Given the description of an element on the screen output the (x, y) to click on. 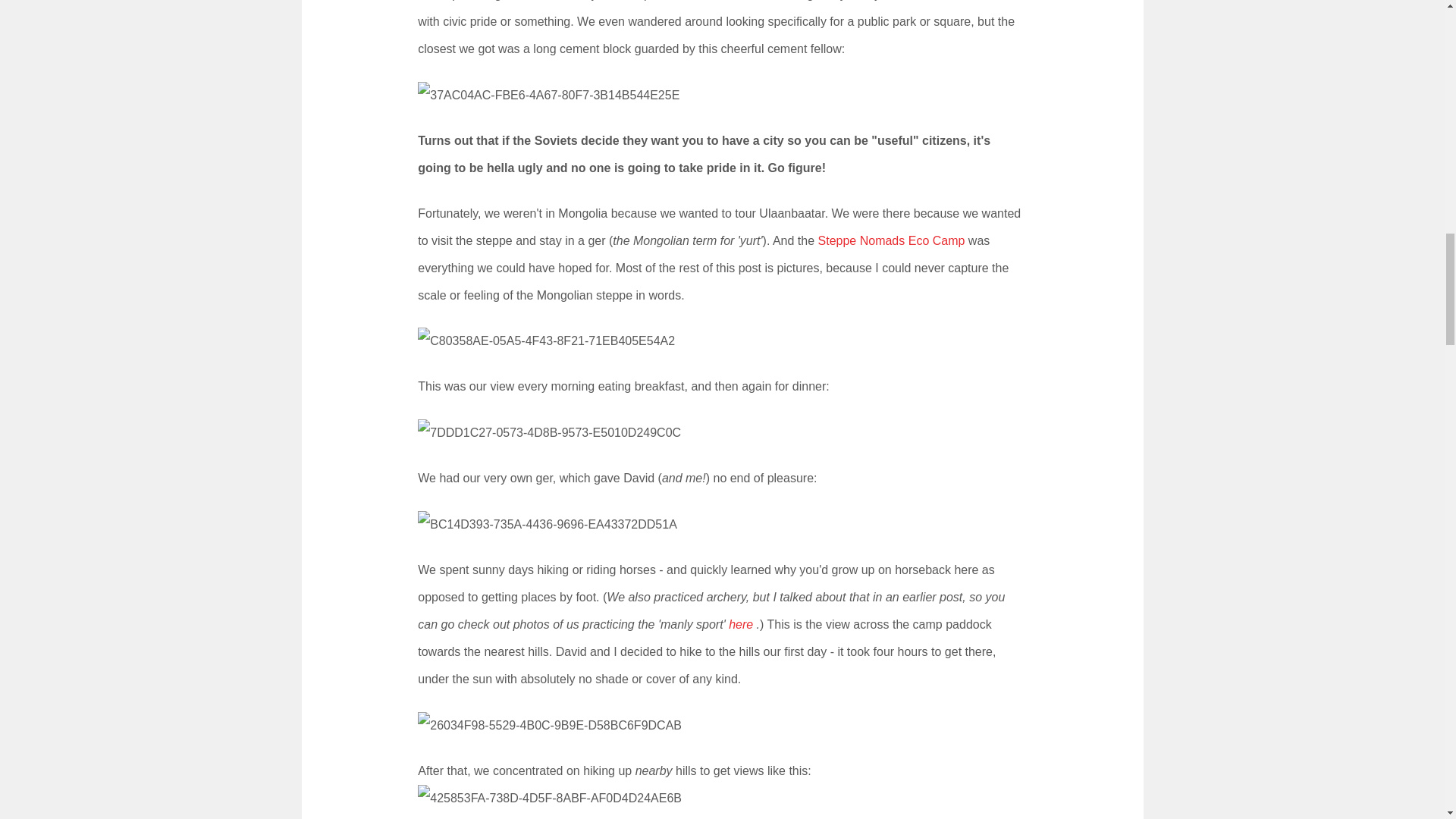
Steppe Nomads Eco Camp (891, 240)
here (740, 624)
